Given the description of an element on the screen output the (x, y) to click on. 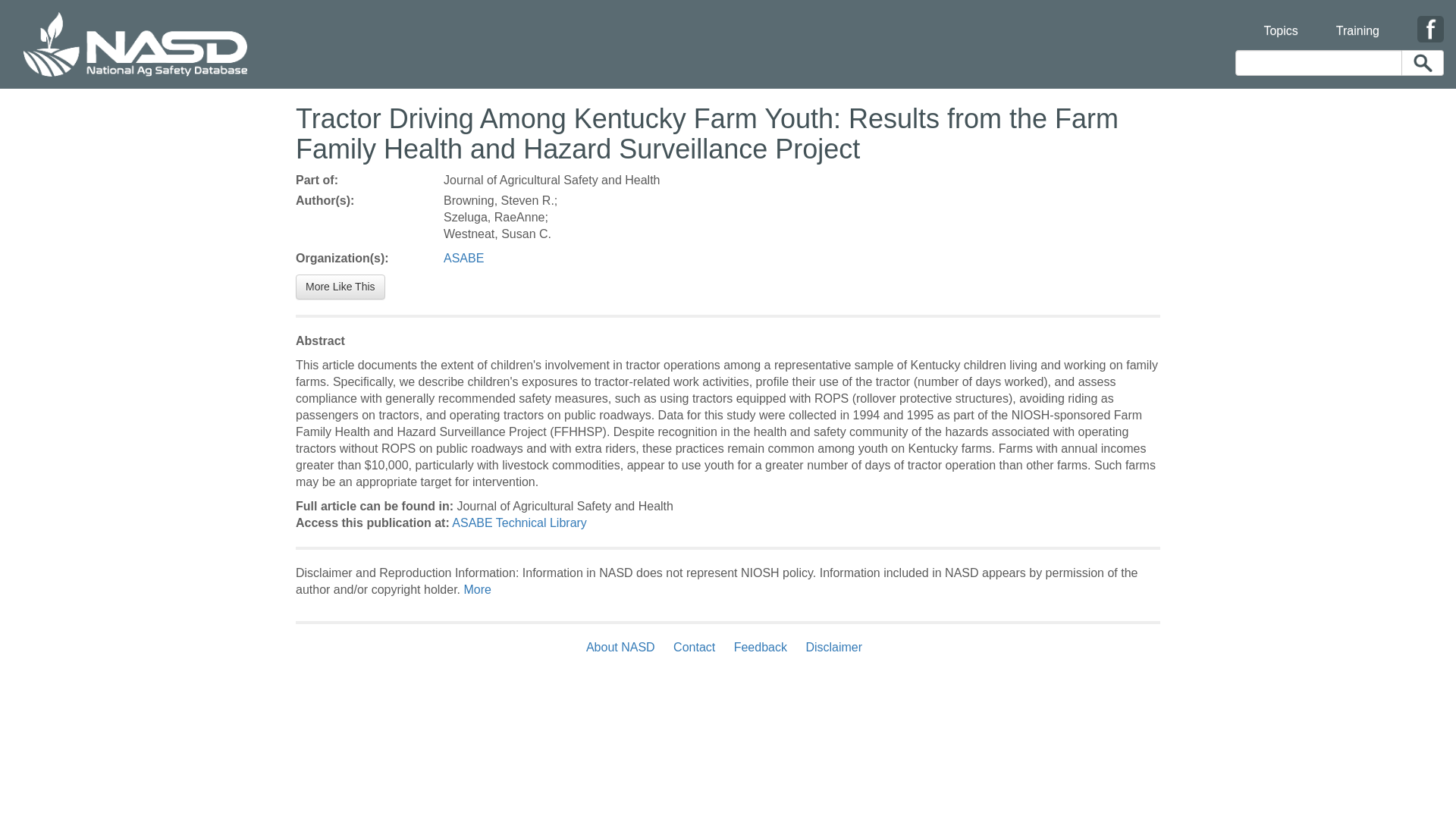
More Like This (340, 287)
Training (1357, 21)
Disclaimer (833, 646)
Feedback (760, 646)
More (476, 589)
Topics (1280, 21)
ASABE Technical Library (518, 522)
Contact (693, 646)
ASABE (463, 257)
About NASD (624, 646)
